Given the description of an element on the screen output the (x, y) to click on. 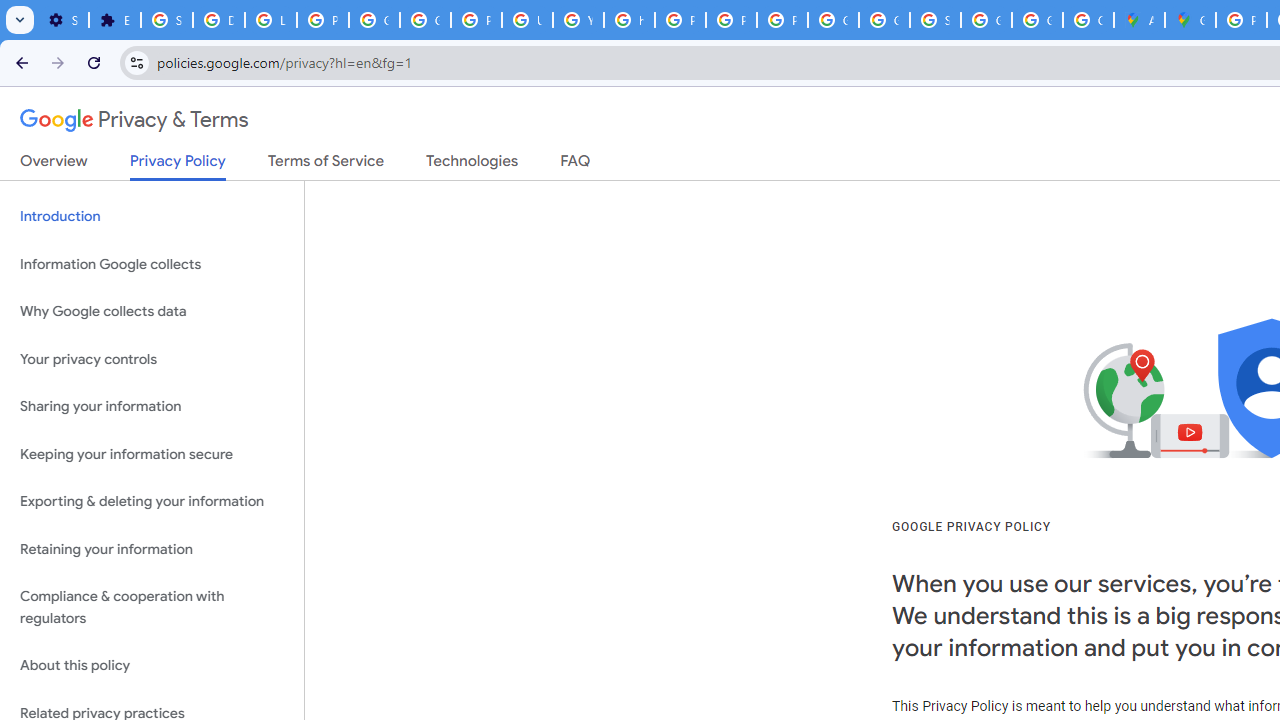
Why Google collects data (152, 312)
Google Account Help (424, 20)
Introduction (152, 216)
Your privacy controls (152, 358)
Privacy Policy (177, 166)
Delete photos & videos - Computer - Google Photos Help (218, 20)
Sign in - Google Accounts (935, 20)
Keeping your information secure (152, 453)
Information Google collects (152, 263)
Policy Accountability and Transparency - Transparency Center (1241, 20)
